Given the description of an element on the screen output the (x, y) to click on. 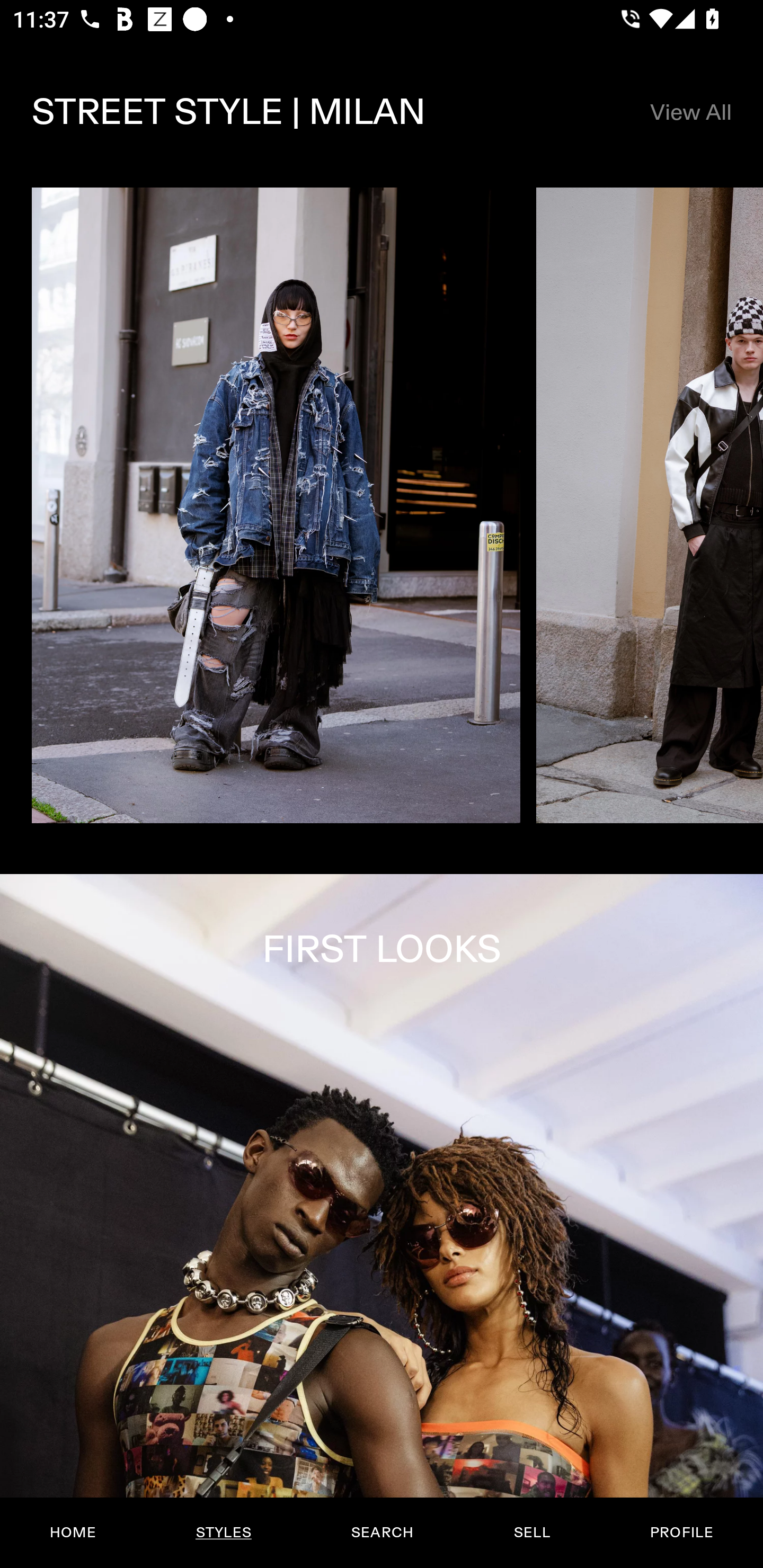
View All (690, 112)
FIRST LOOKS DIESEL FALL '24 (381, 1220)
HOME (72, 1532)
STYLES (222, 1532)
SEARCH (381, 1532)
SELL (531, 1532)
PROFILE (681, 1532)
